Given the description of an element on the screen output the (x, y) to click on. 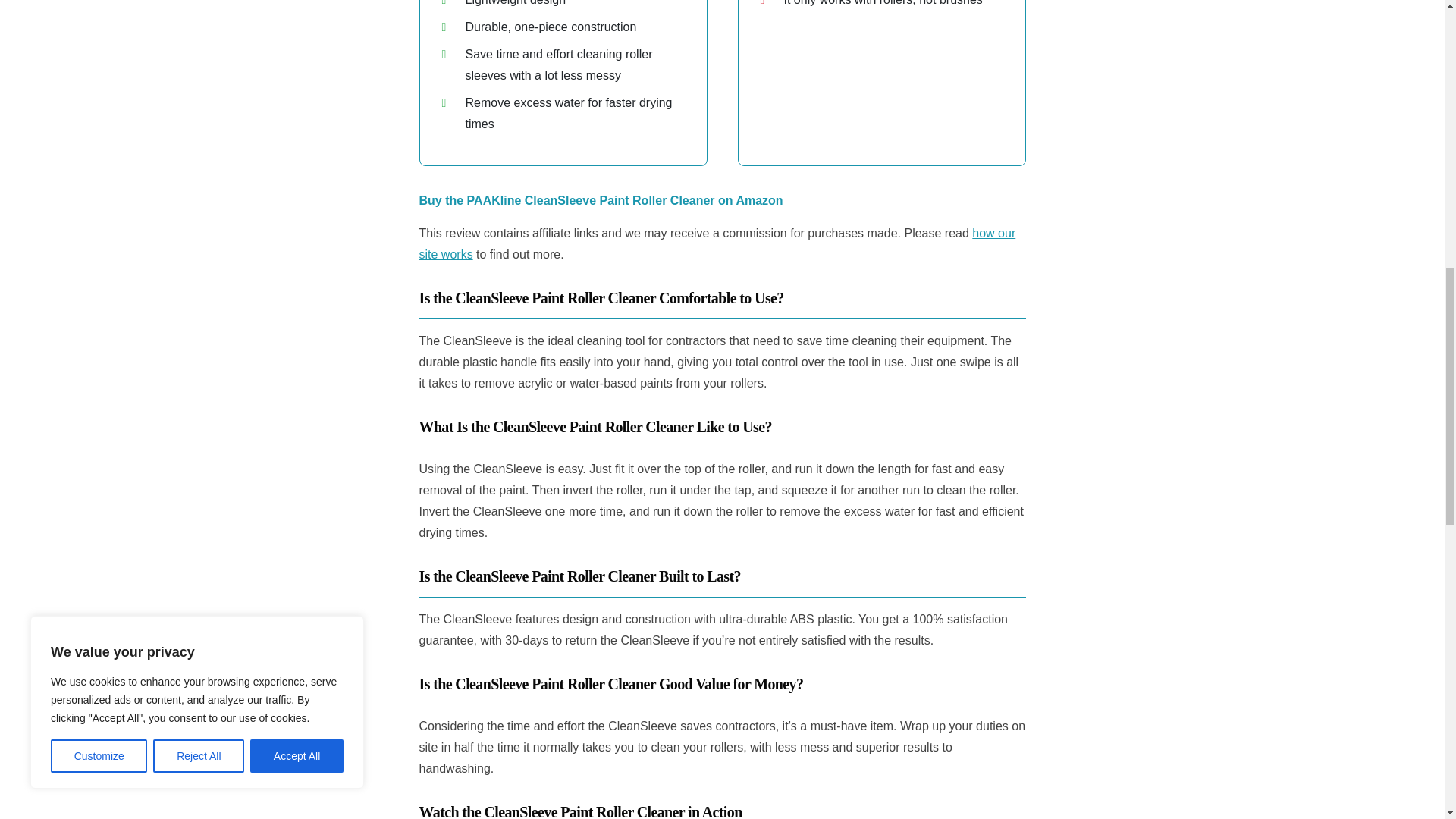
how our site works (716, 243)
Buy the PAAKline CleanSleeve Paint Roller Cleaner on Amazon (601, 200)
